Given the description of an element on the screen output the (x, y) to click on. 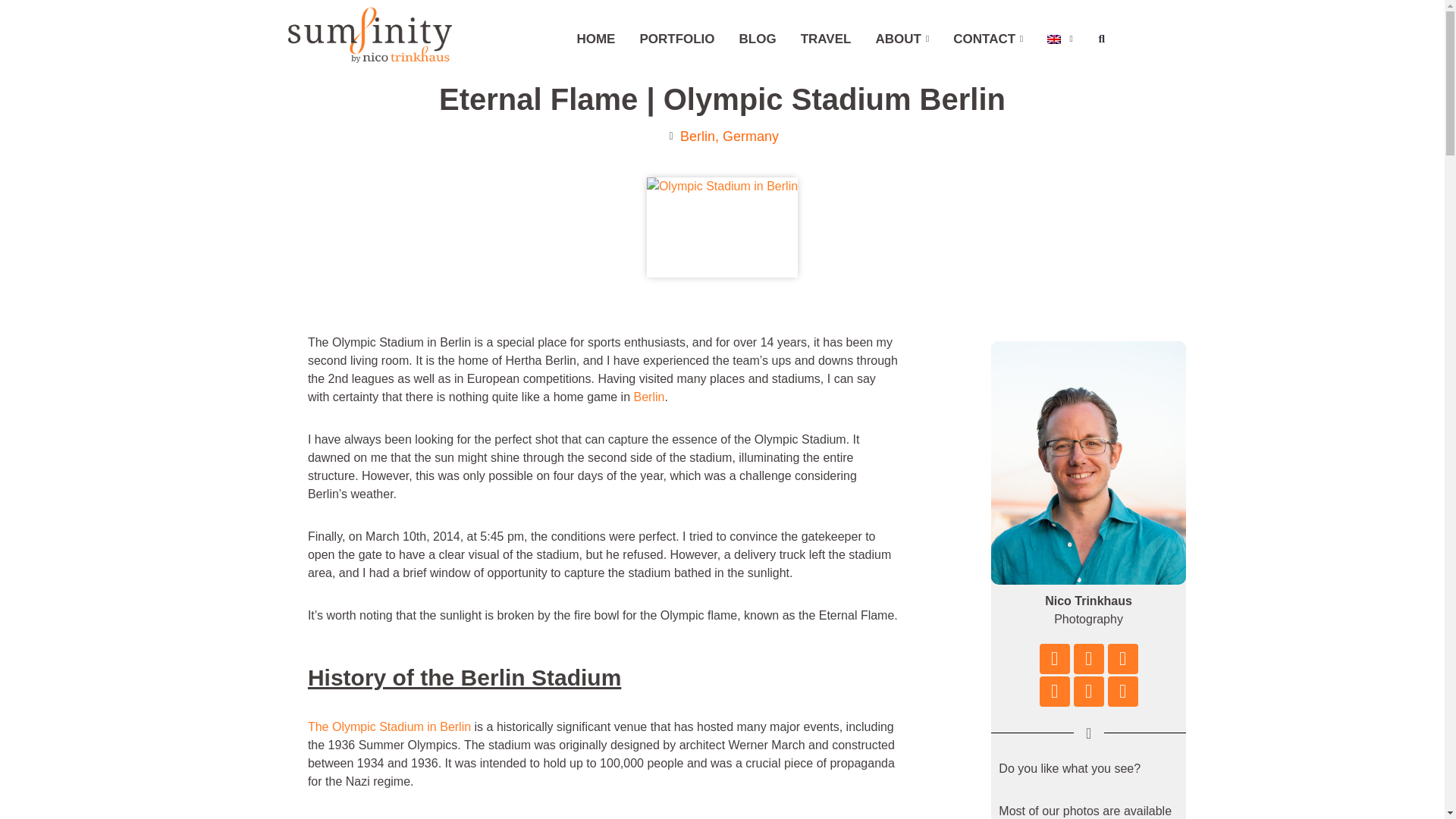
TRAVEL (826, 39)
HOME (595, 39)
PORTFOLIO (676, 39)
CONTACT (987, 39)
ABOUT (901, 39)
BLOG (757, 39)
